Given the description of an element on the screen output the (x, y) to click on. 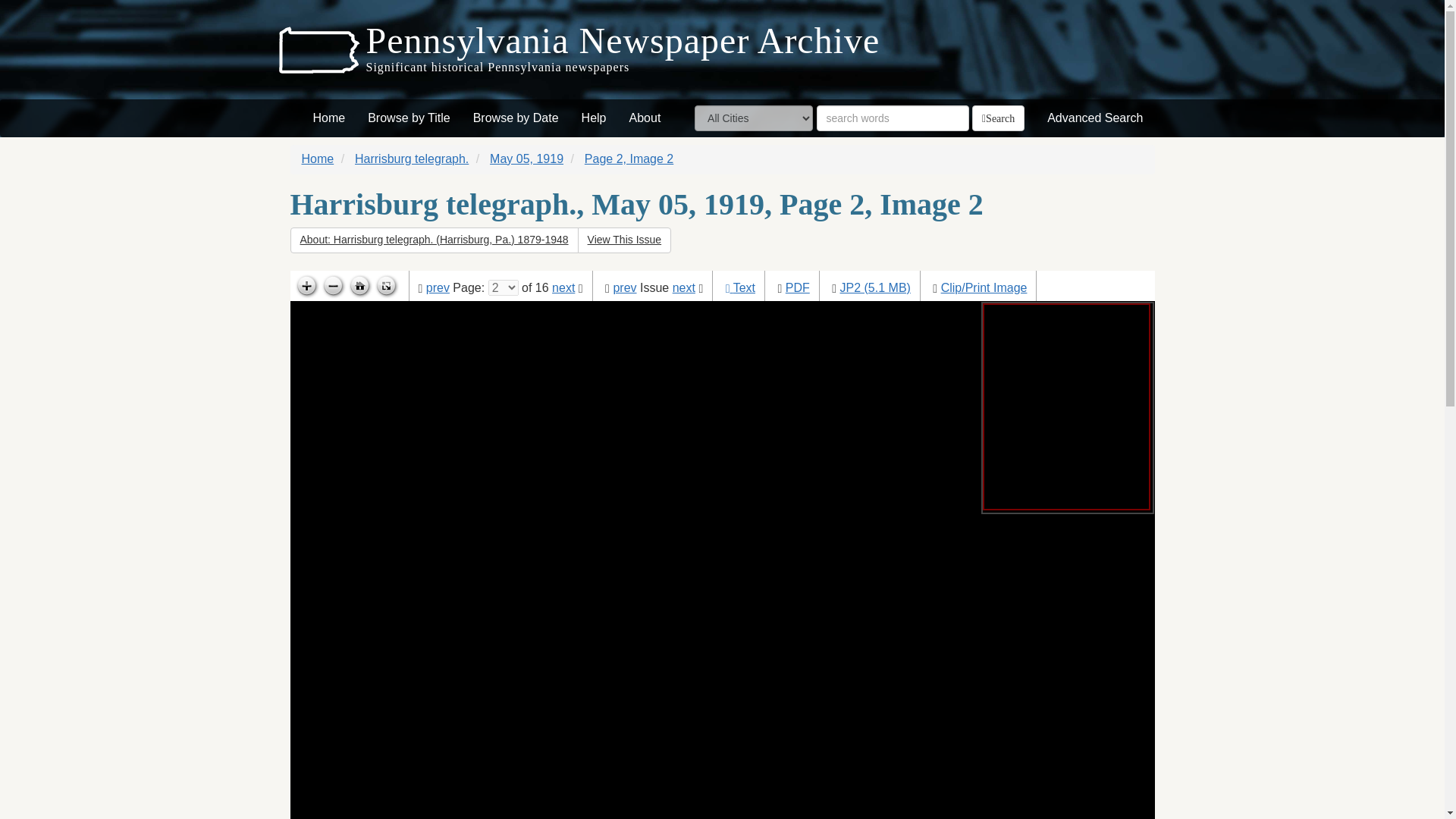
Browse by Title (408, 118)
next (563, 287)
PDF (797, 287)
prev (437, 287)
prev (624, 287)
Advanced Search (1094, 118)
Browse by Date (515, 118)
Help (593, 118)
Zoom in (305, 286)
Search (998, 118)
About (644, 118)
Text (744, 287)
Toggle full page (385, 286)
next (683, 287)
View This Issue (624, 240)
